Given the description of an element on the screen output the (x, y) to click on. 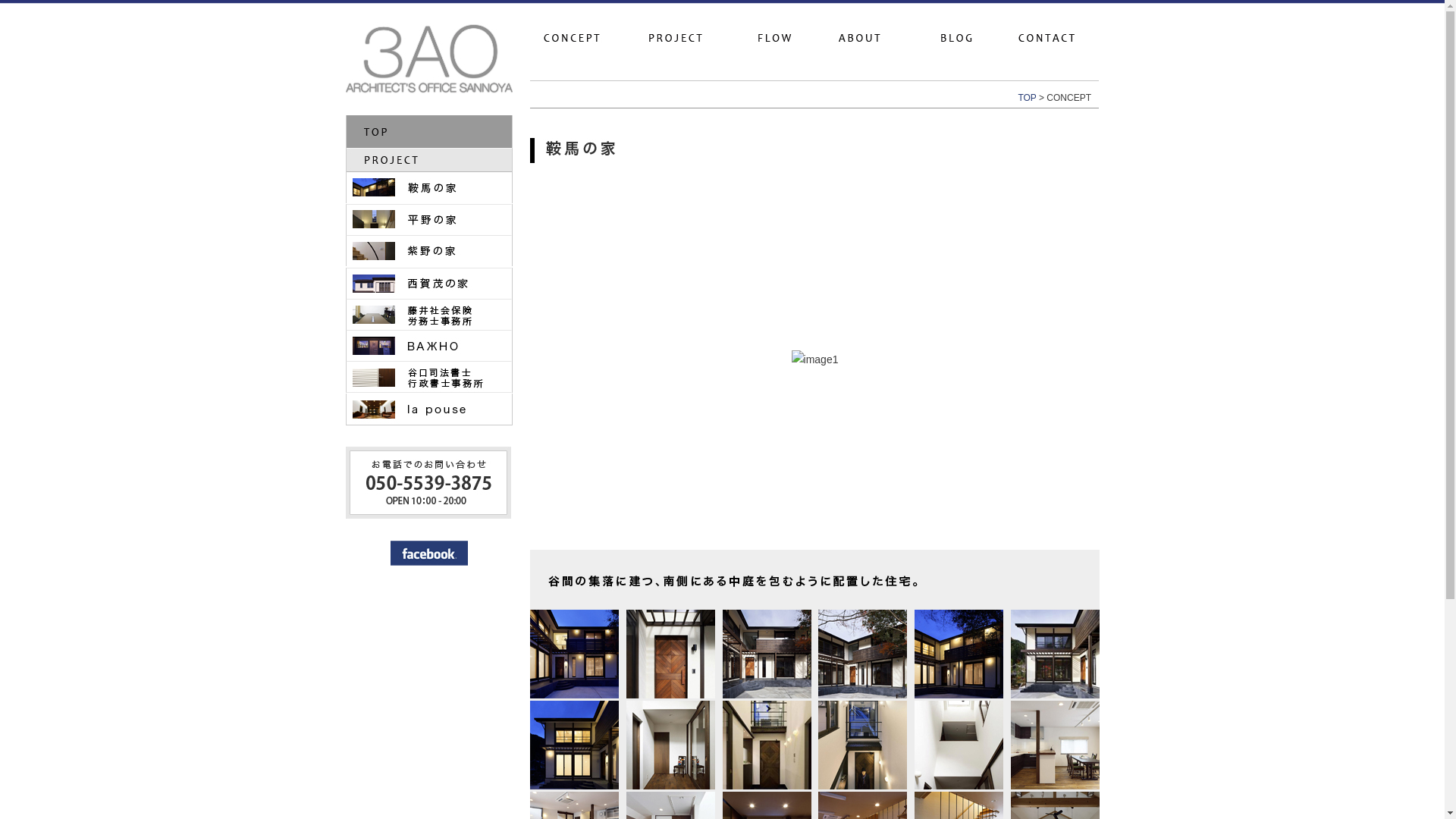
TOP Element type: text (1026, 97)
la pouse Element type: text (428, 409)
